Given the description of an element on the screen output the (x, y) to click on. 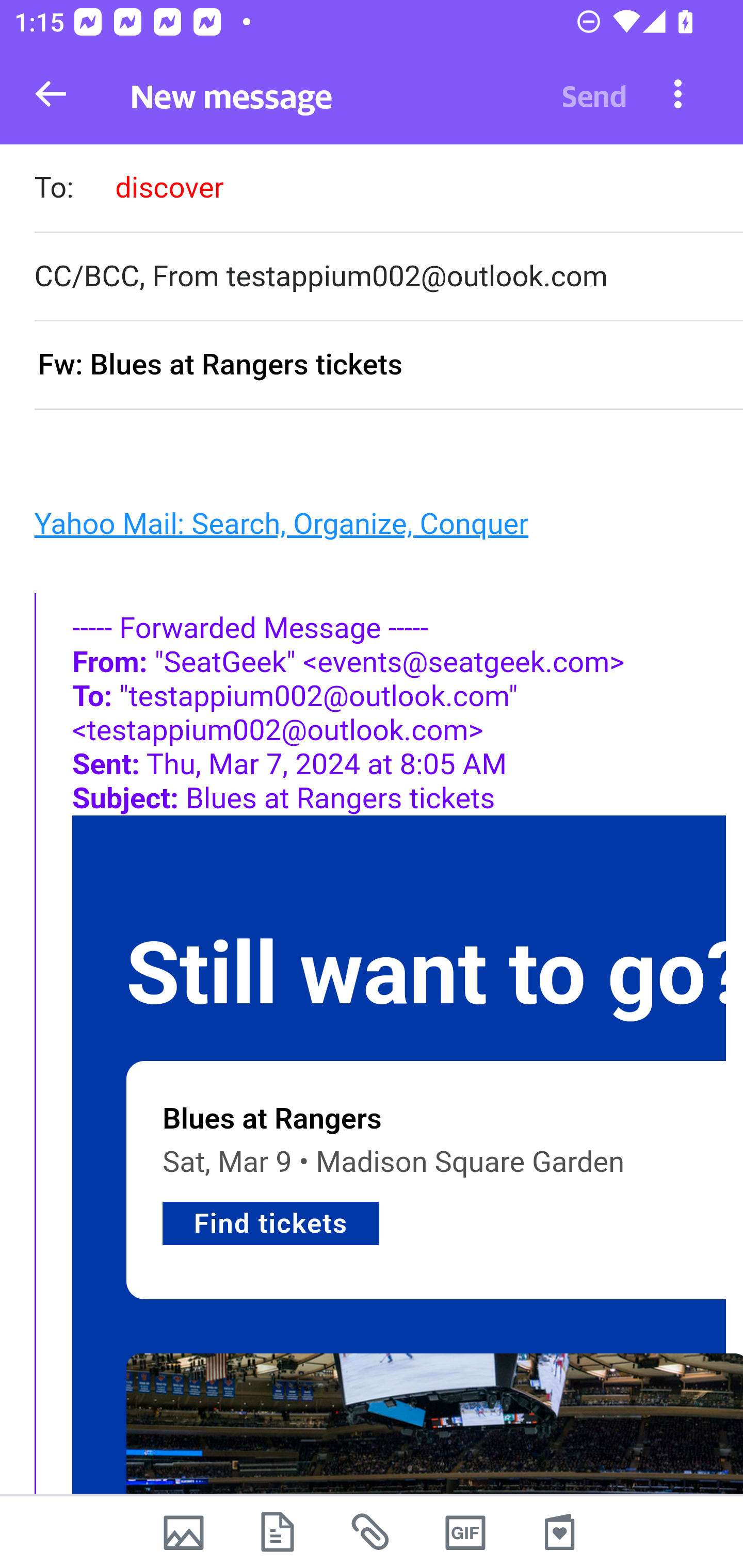
Back (50, 93)
Send (594, 93)
More options (677, 93)
To: discover (387, 189)
discover (169, 187)
CC/BCC, From testappium002@outlook.com (387, 276)
Fw: Blues at Rangers tickets (387, 365)
Yahoo Mail: Search, Organize, Conquer (280, 522)
Still want to go? (434, 973)
Blues at Rangers (272, 1118)
Find tickets (271, 1221)
Camera photos (183, 1531)
Device files (277, 1531)
Recent attachments from mail (371, 1531)
GIFs (465, 1531)
Stationery (559, 1531)
